Given the description of an element on the screen output the (x, y) to click on. 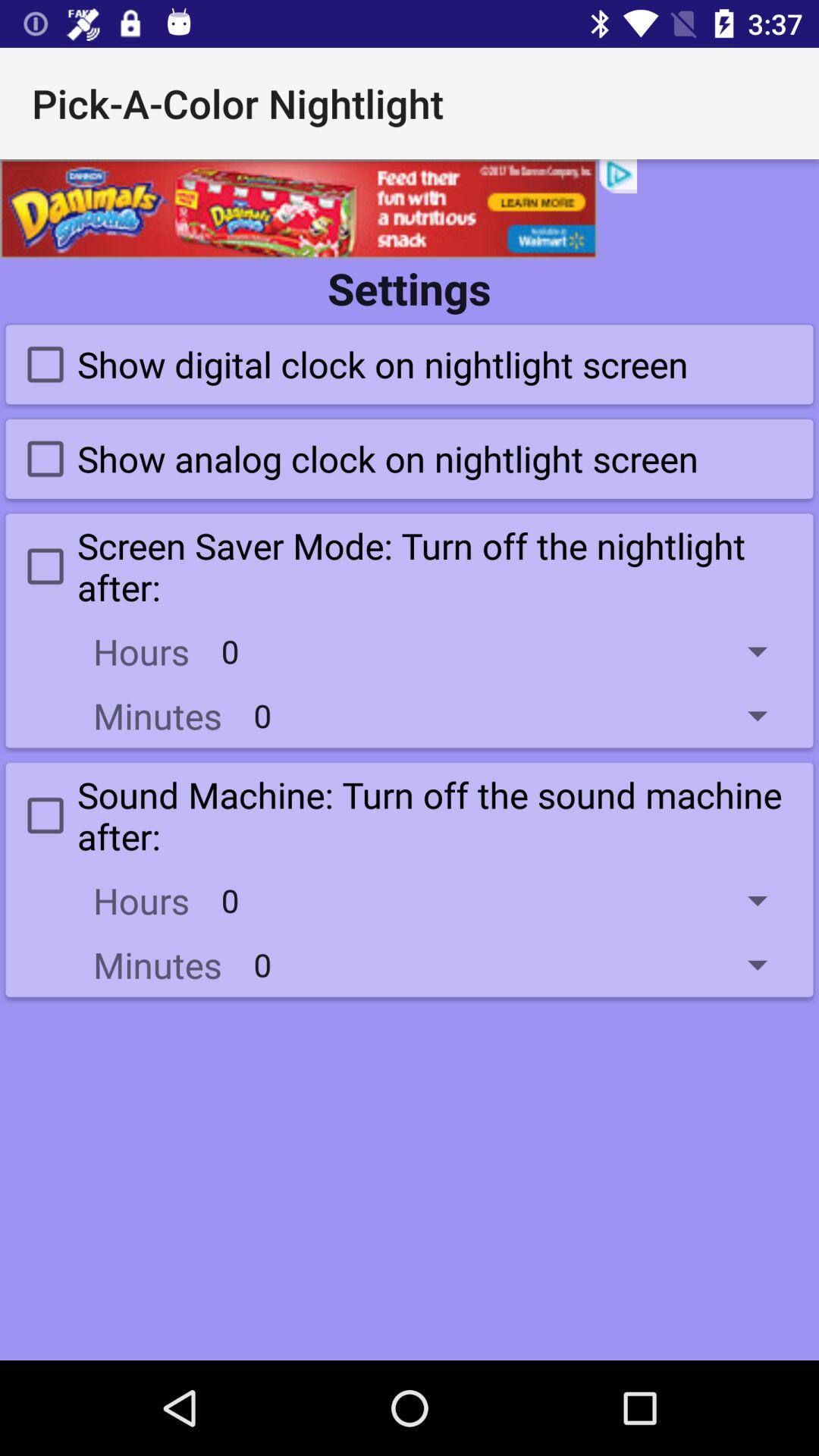
click on the first check box (350, 364)
click on th icon beside hours text (505, 900)
click on the 0 field above the sound machine (521, 715)
